Given the description of an element on the screen output the (x, y) to click on. 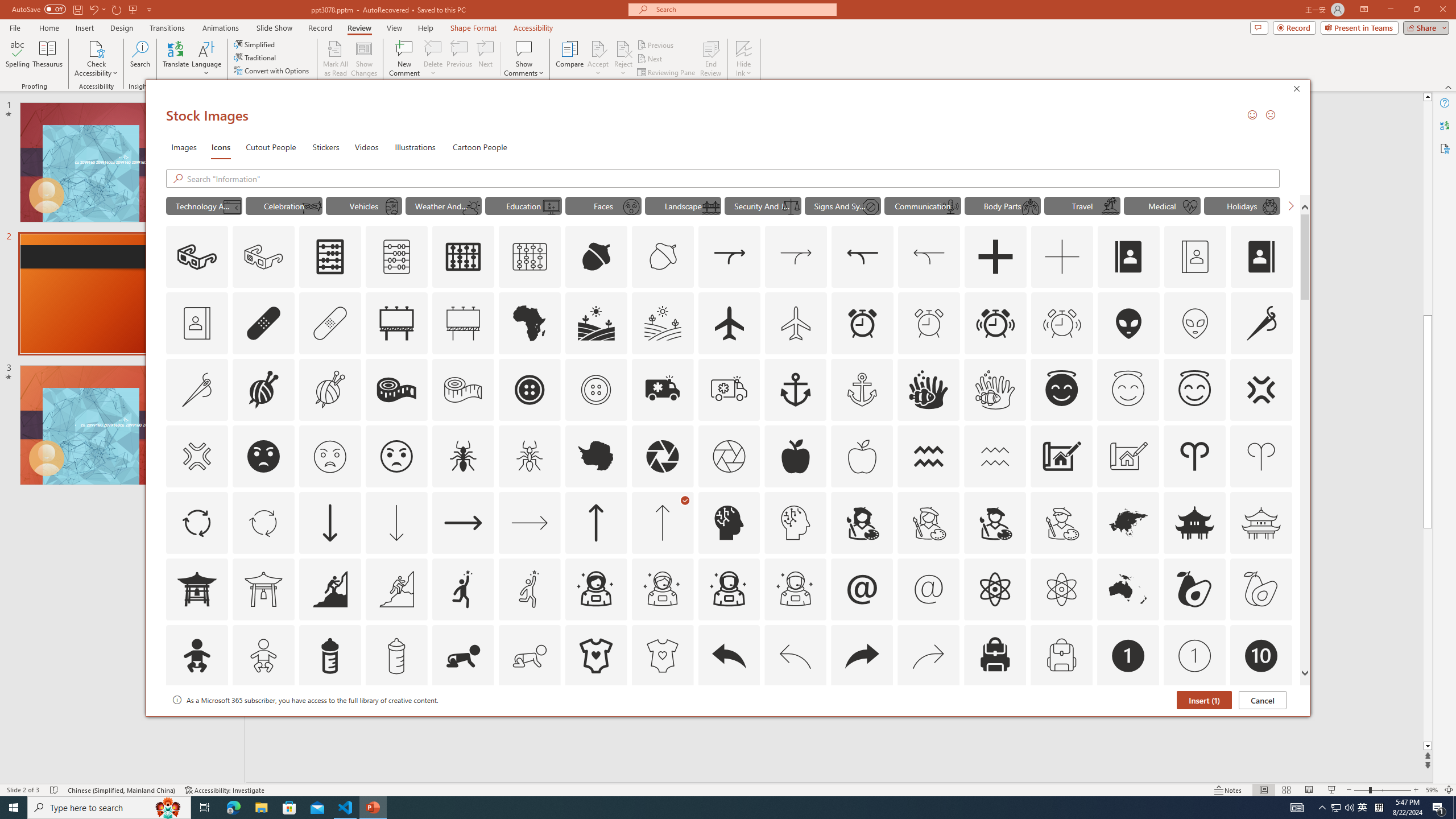
AutomationID: Icons_Backpack_M (1061, 655)
AutomationID: Icons_AlarmClock_M (928, 323)
Videos (366, 146)
AutomationID: Icons_Architecture (1061, 455)
AutomationID: Icons_ArrowRight_M (529, 522)
AutomationID: Icons_AlterationsTailoring3_M (595, 389)
"Education" Icons. (523, 205)
AutomationID: Icons_ArtificialIntelligence (729, 522)
AutomationID: Icons_At (861, 588)
AutomationID: Icons_AnemoneAndClownfish_M (995, 389)
Thumbnail (1283, 699)
